Given the description of an element on the screen output the (x, y) to click on. 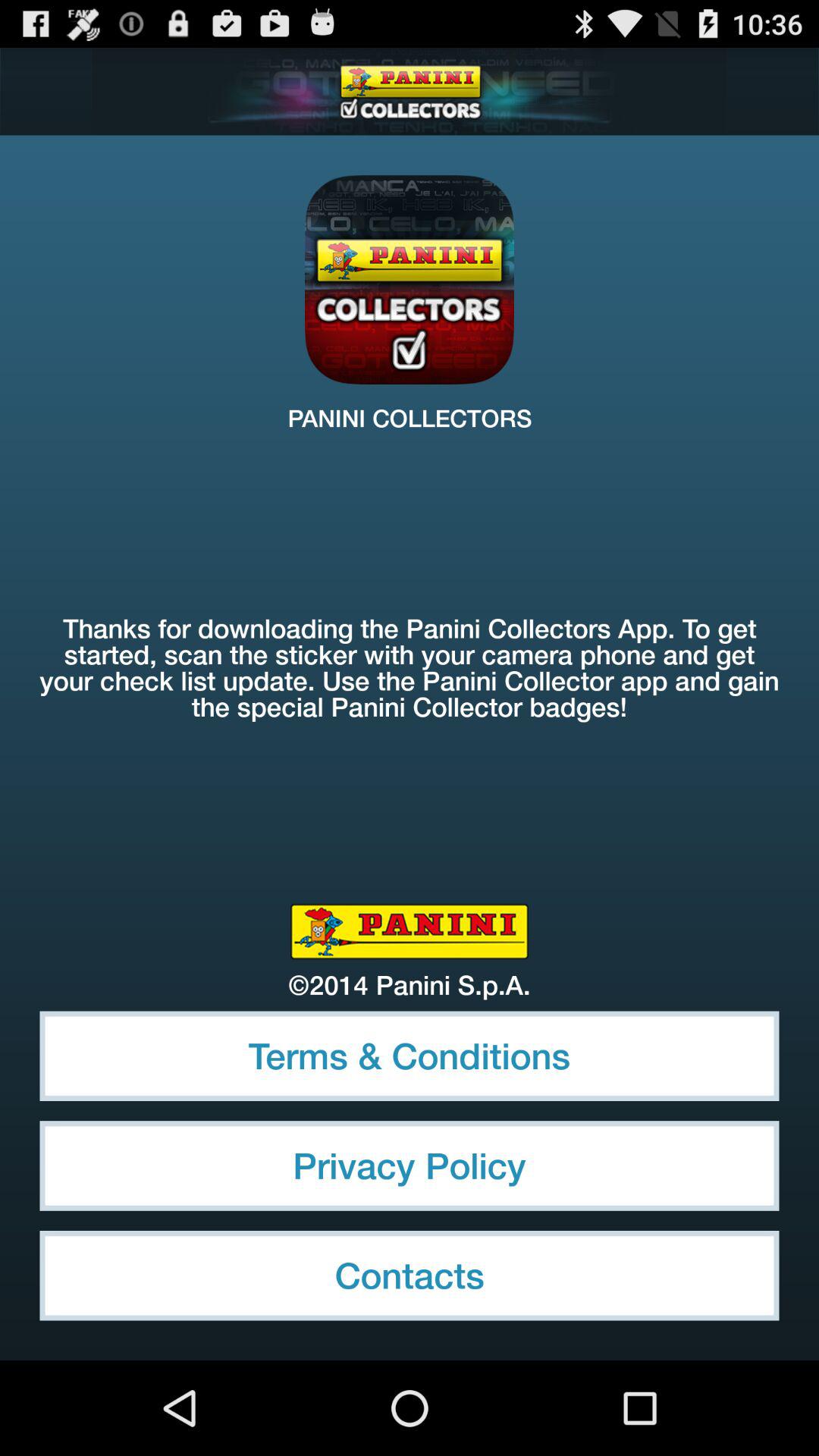
flip to the privacy policy item (409, 1165)
